Given the description of an element on the screen output the (x, y) to click on. 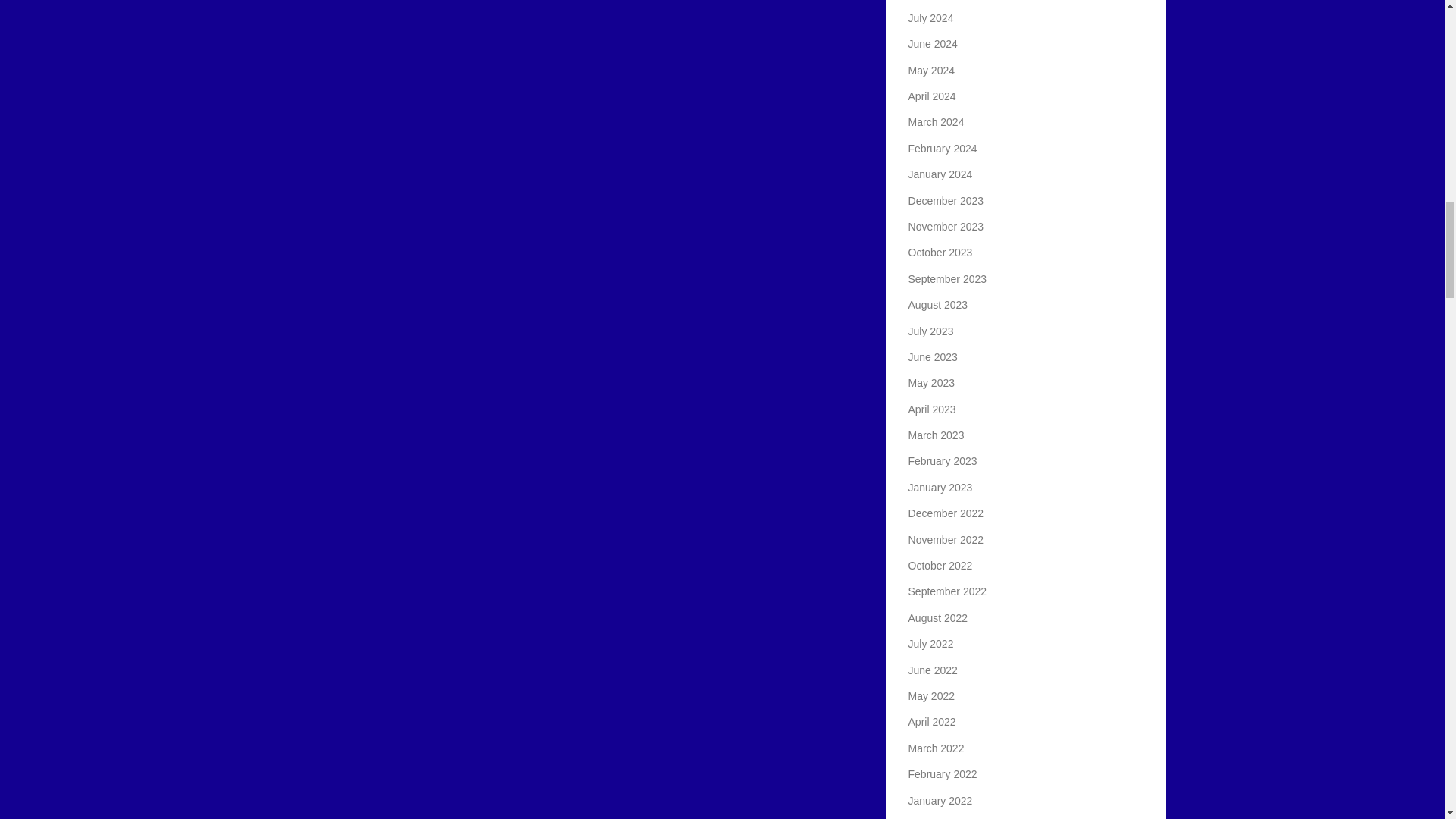
June 2024 (933, 43)
July 2024 (930, 18)
May 2024 (931, 70)
February 2024 (942, 148)
March 2024 (935, 121)
April 2024 (932, 96)
January 2024 (940, 174)
